Given the description of an element on the screen output the (x, y) to click on. 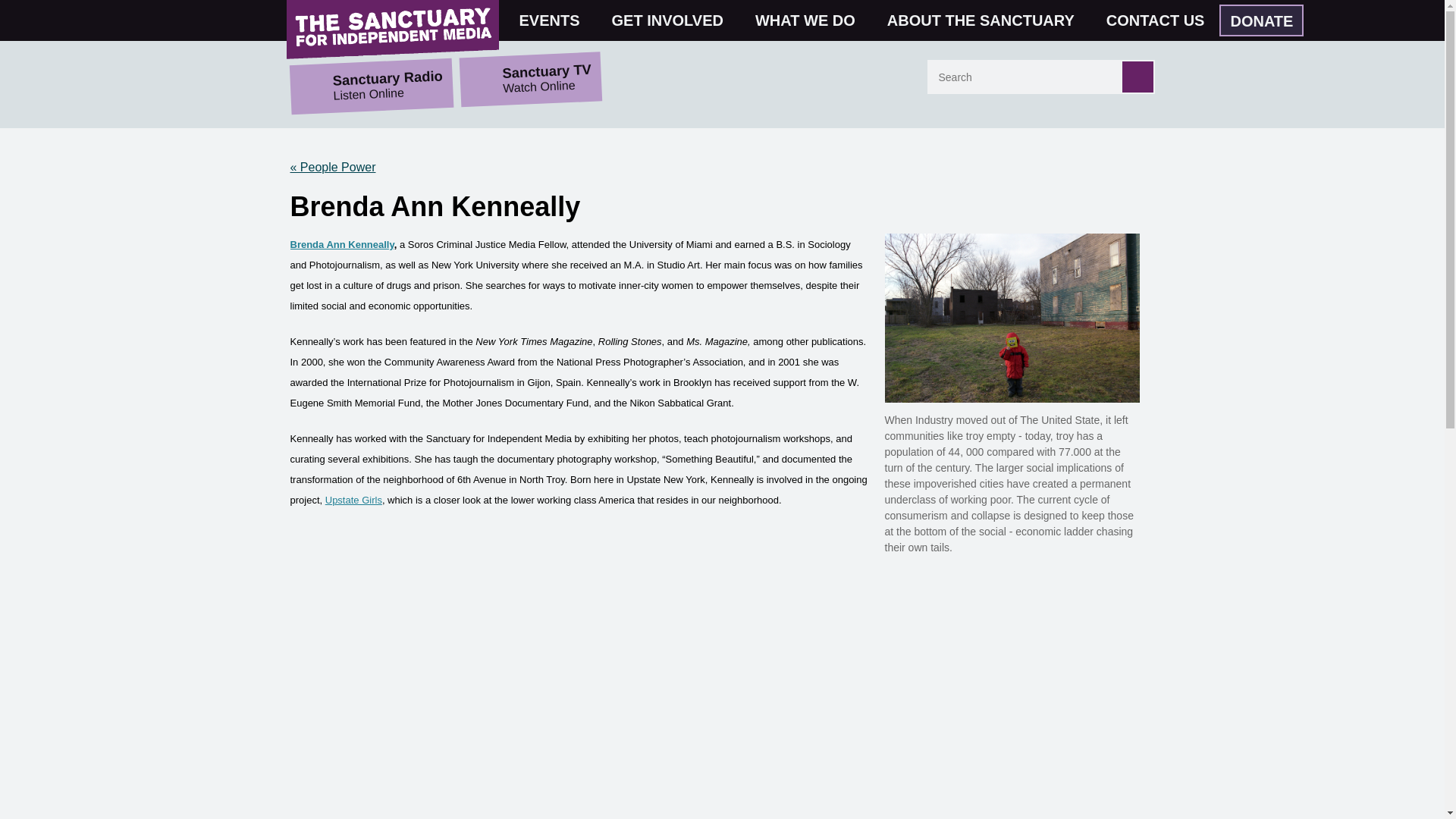
EVENTS (555, 20)
WHAT WE DO (811, 20)
ABOUT THE SANCTUARY (987, 20)
GET INVOLVED (673, 20)
